Given the description of an element on the screen output the (x, y) to click on. 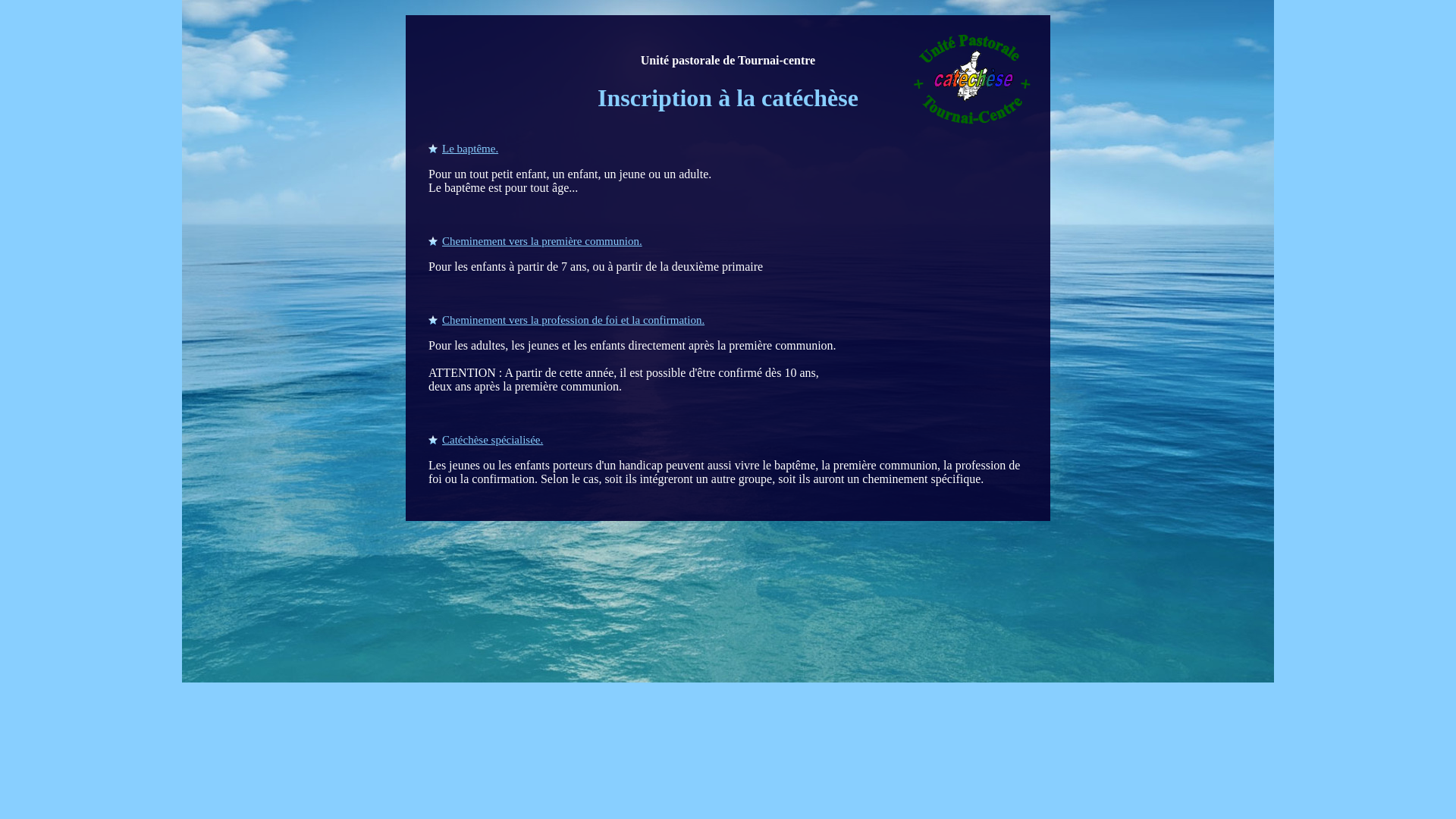
Cheminement vers la profession de foi et la confirmation. Element type: text (566, 319)
